Given the description of an element on the screen output the (x, y) to click on. 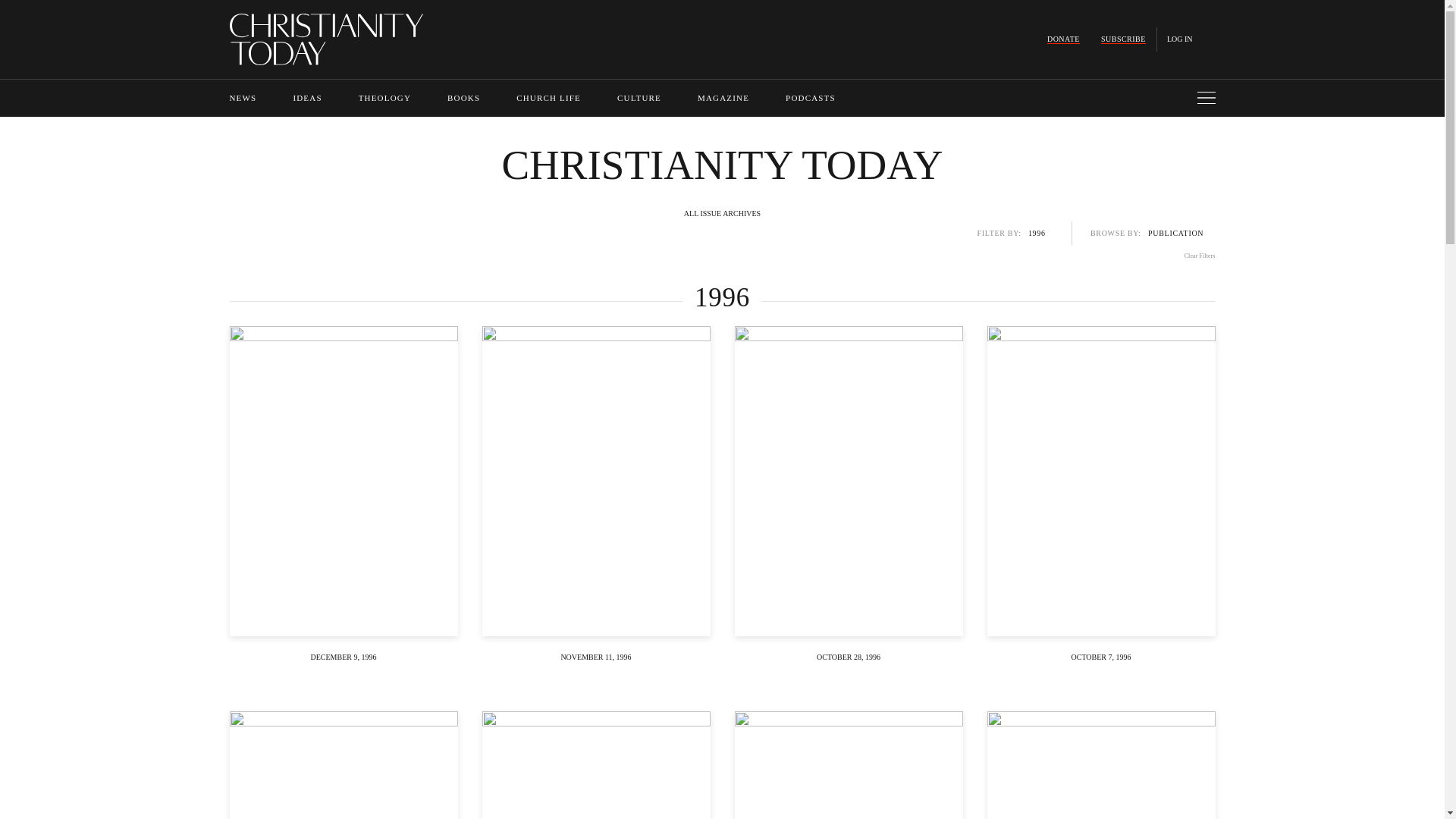
CHURCH LIFE (548, 97)
PODCASTS (810, 97)
DONATE (1063, 39)
BOOKS (463, 97)
LOG IN (1179, 39)
CULTURE (639, 97)
THEOLOGY (384, 97)
NEWS (242, 97)
MAGAZINE (723, 97)
SUBSCRIBE (1122, 39)
